Given the description of an element on the screen output the (x, y) to click on. 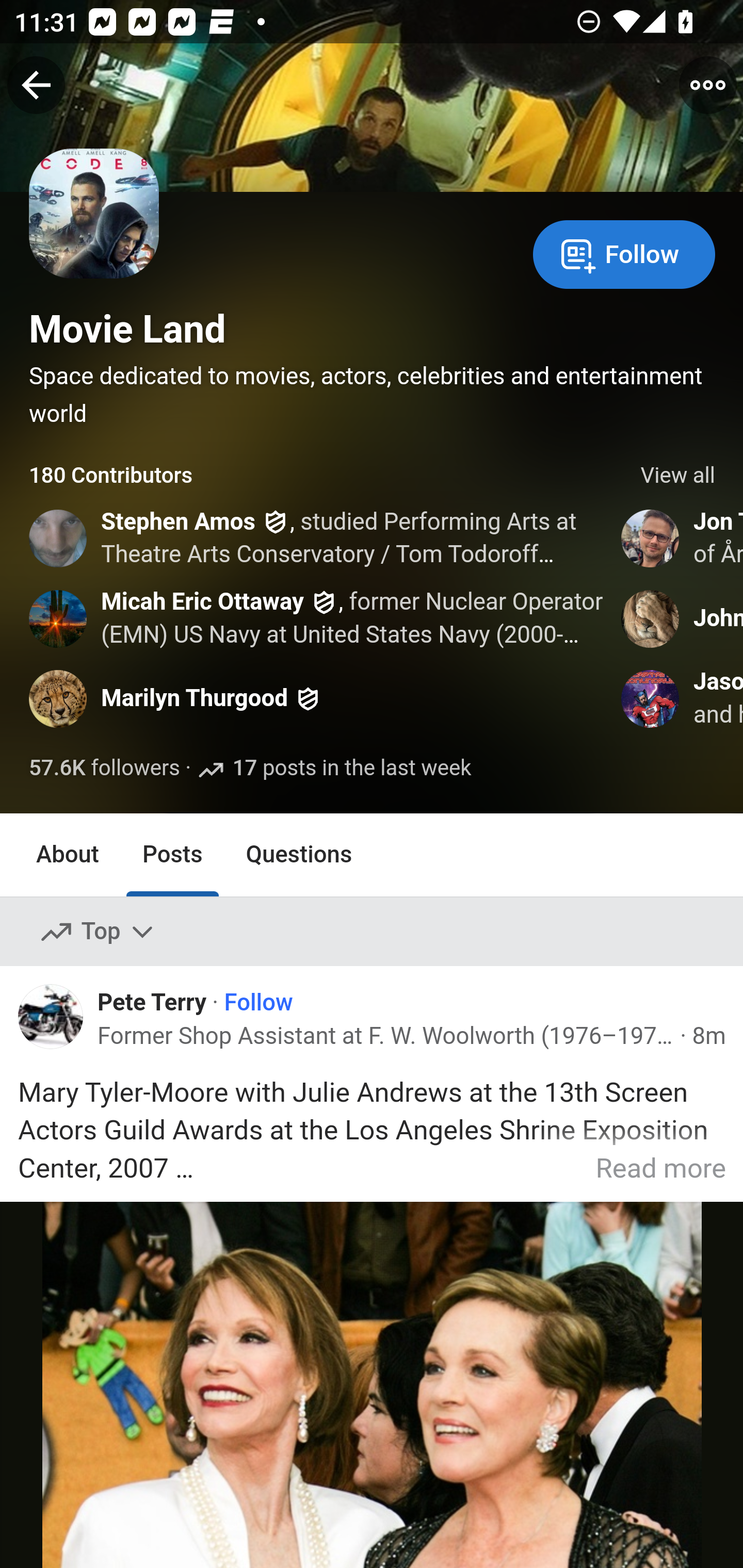
Follow (623, 252)
Movie Land (127, 329)
View all (677, 475)
Stephen Amos (178, 521)
Profile photo for Stephen Amos (58, 538)
Profile photo for Jon Therkildsen (650, 538)
Micah Eric Ottaway (202, 601)
Profile photo for Micah Eric Ottaway (58, 617)
Profile photo for John Wheeler (650, 617)
Profile photo for Marilyn Thurgood (58, 699)
Profile photo for Jason Jimenez (650, 699)
Marilyn Thurgood (195, 699)
About (68, 854)
Posts (171, 854)
Questions (299, 854)
Top (97, 931)
Profile photo for Pete Terry (50, 1016)
Pete Terry (152, 1001)
Follow (258, 1002)
